Given the description of an element on the screen output the (x, y) to click on. 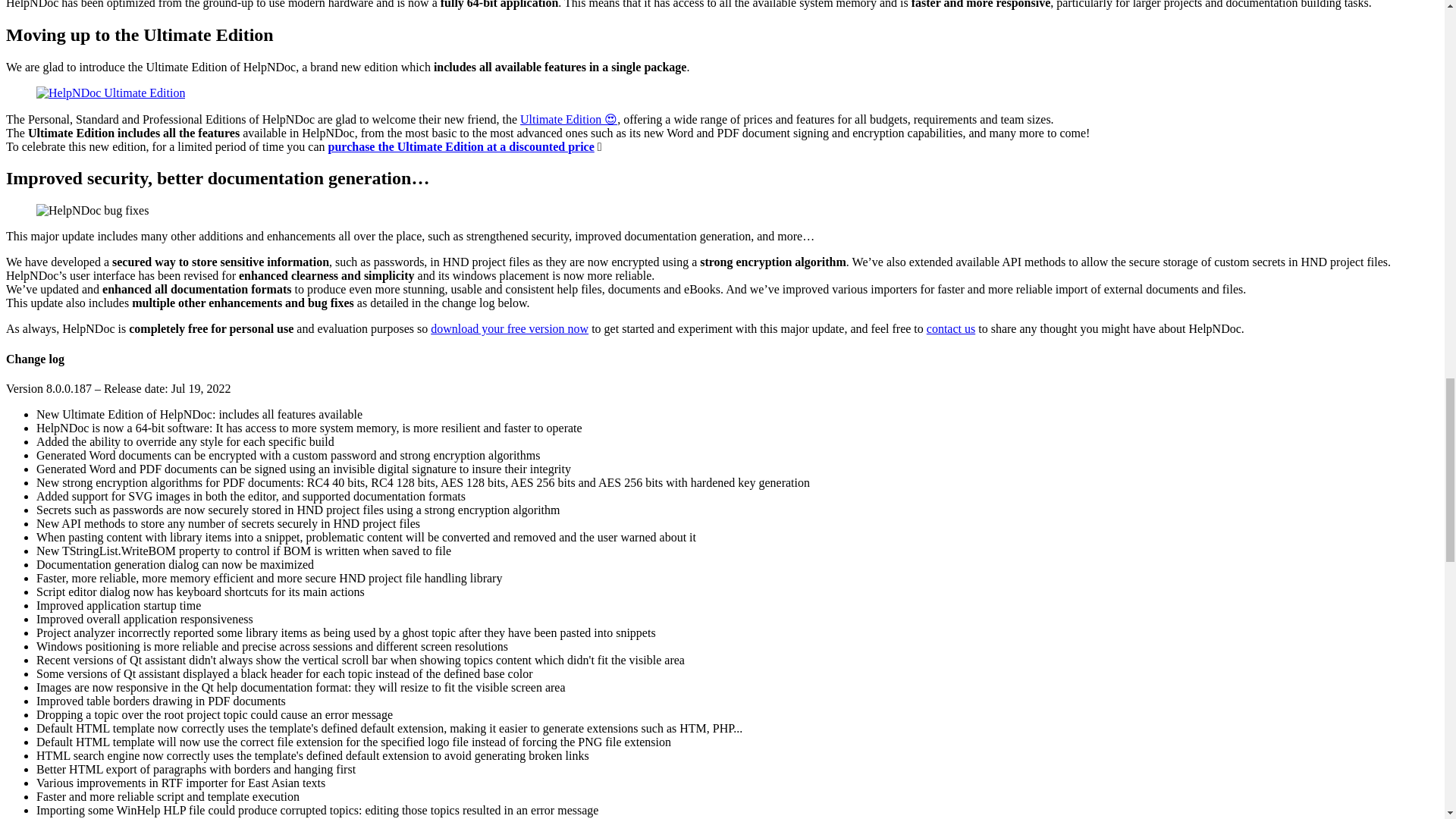
download your free version now (509, 328)
purchase the Ultimate Edition at a discounted price (461, 145)
contact us (950, 328)
